Given the description of an element on the screen output the (x, y) to click on. 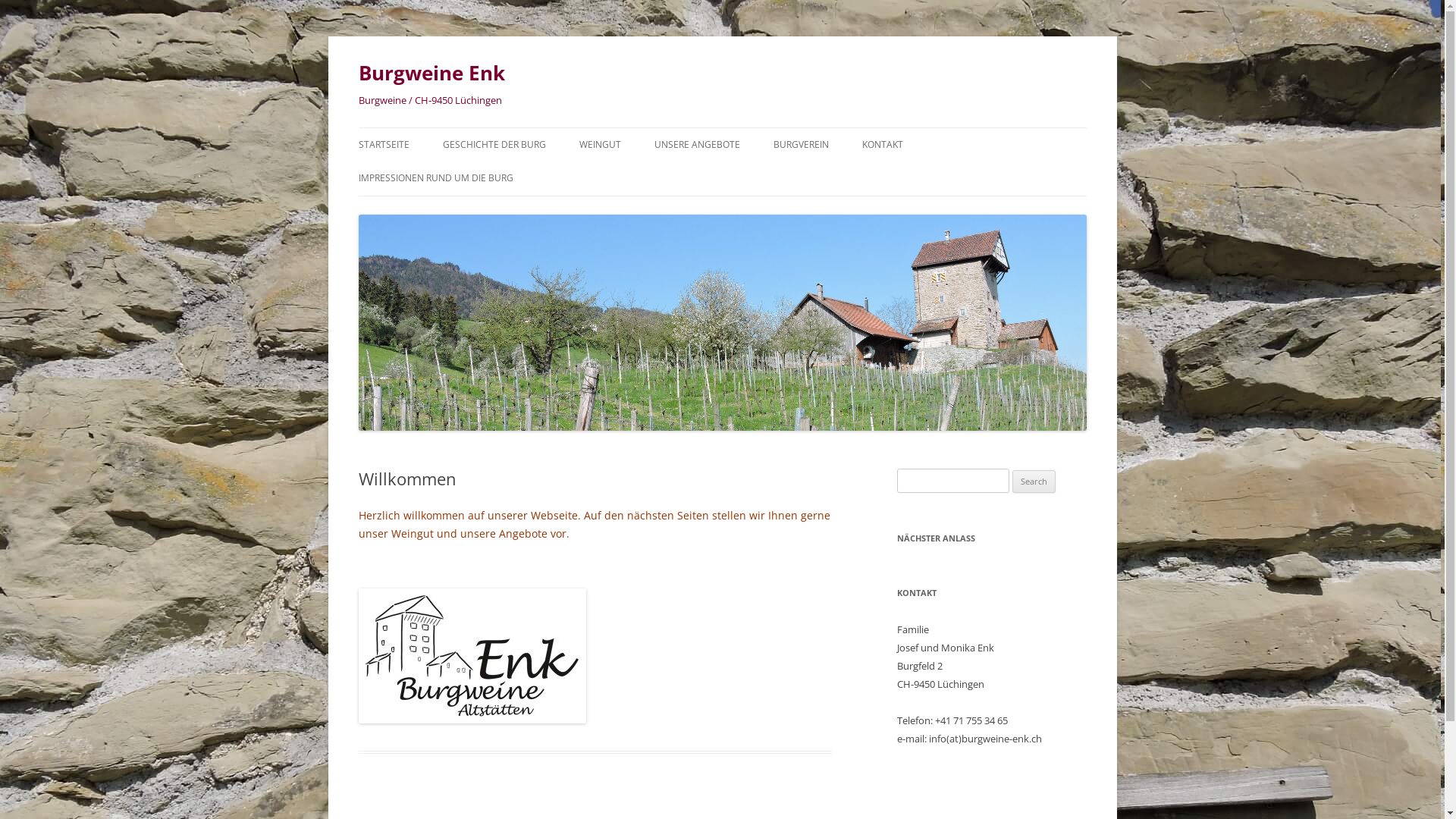
BURGVEREIN Element type: text (800, 144)
IMPRESSIONEN RUND UM DIE BURG Element type: text (434, 177)
GESCHICHTE DER BURG Element type: text (494, 144)
STARTSEITE Element type: text (382, 144)
UNSERE ANGEBOTE Element type: text (696, 144)
KONTAKT Element type: text (881, 144)
Search Element type: text (1033, 481)
WEINVERKAUF Element type: text (729, 176)
Skip to content Element type: text (759, 132)
WEINGUT Element type: text (600, 144)
Burgweine Enk Element type: text (430, 72)
